Given the description of an element on the screen output the (x, y) to click on. 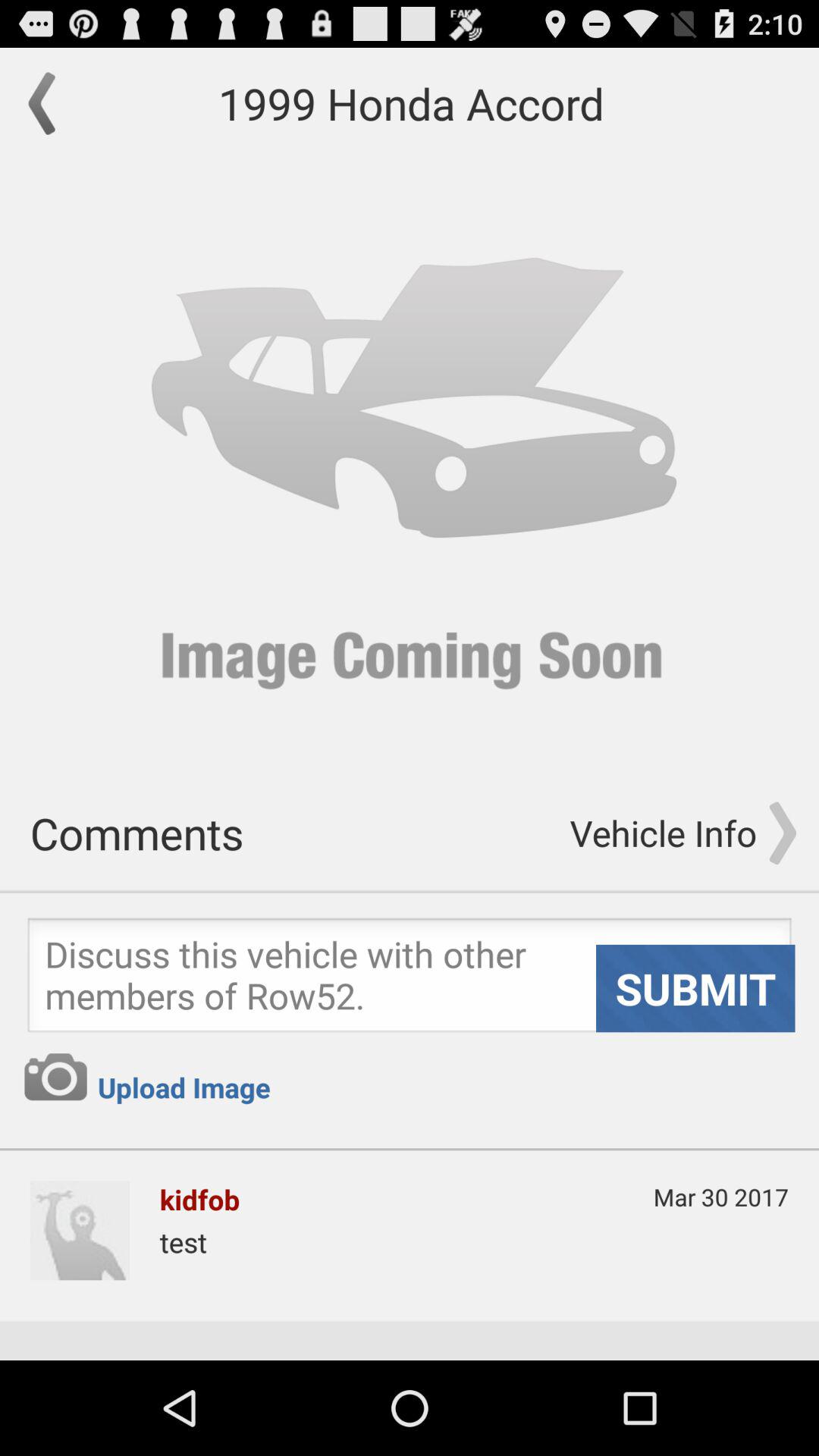
scroll until the submit icon (695, 988)
